Given the description of an element on the screen output the (x, y) to click on. 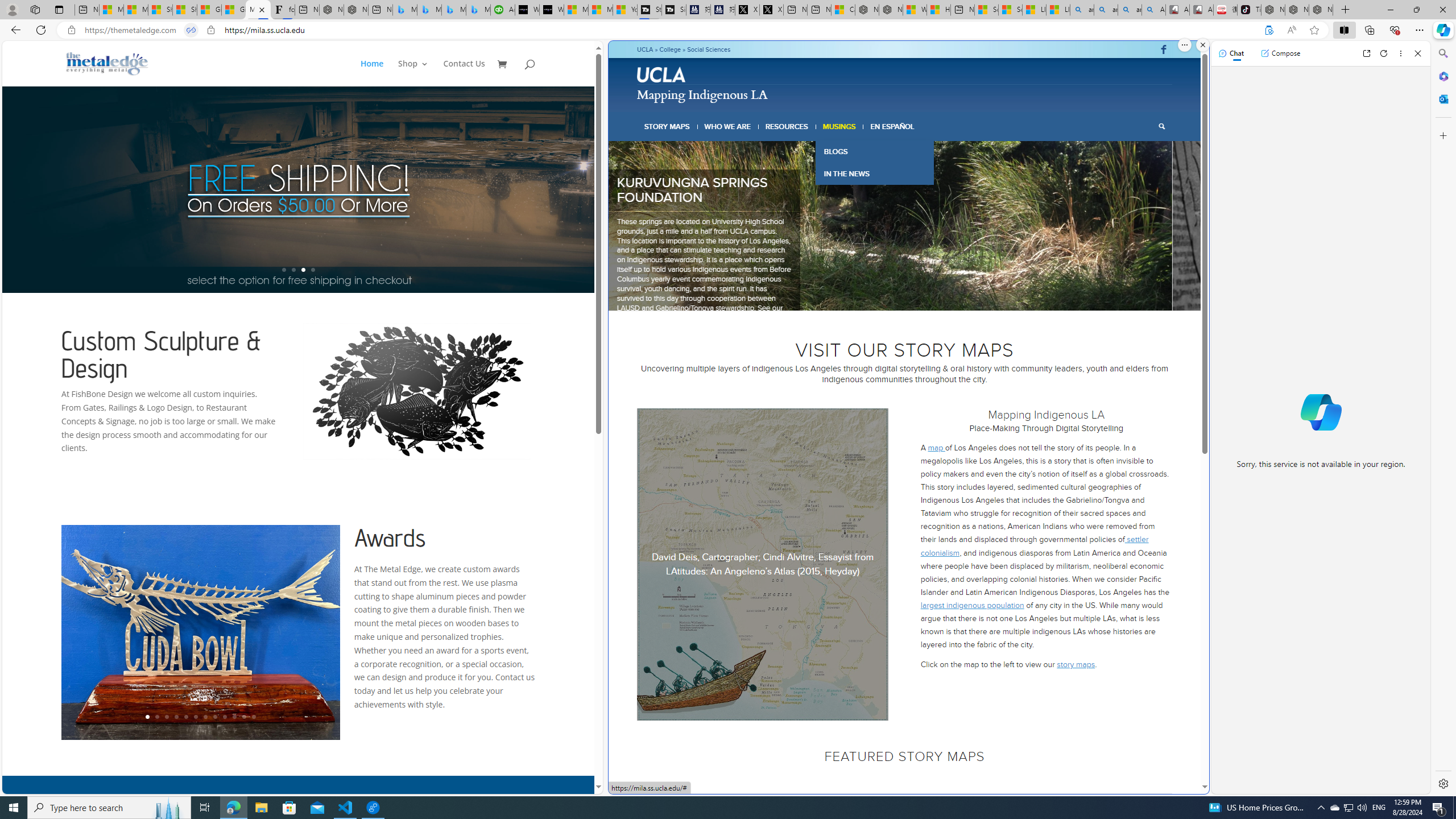
IMG_0092 (316, 225)
4 (899, 296)
Home (371, 72)
Home (377, 72)
3 (890, 296)
Contact Us (463, 72)
2 (881, 296)
